Given the description of an element on the screen output the (x, y) to click on. 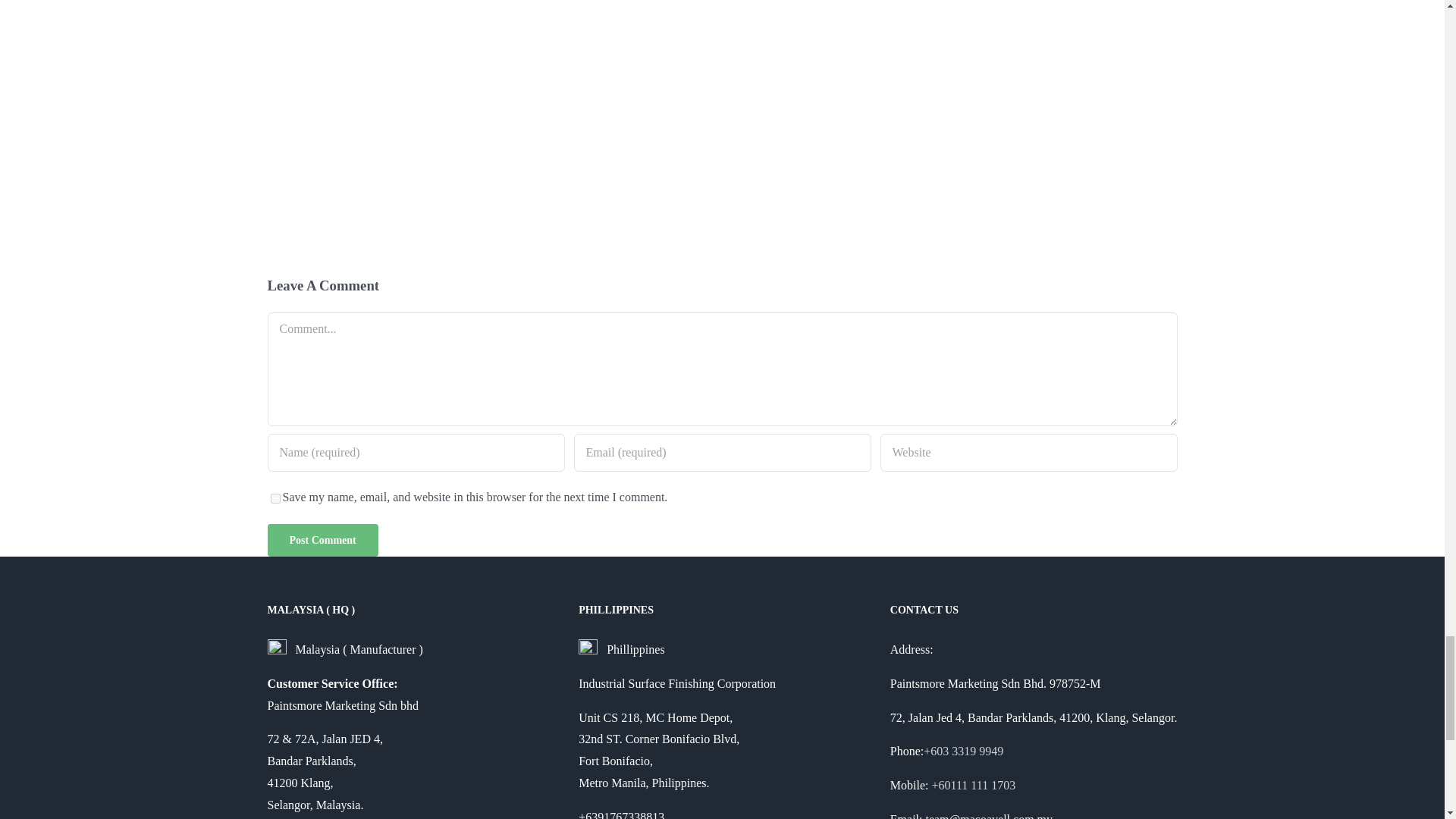
yes (274, 498)
Post Comment (321, 540)
